Given the description of an element on the screen output the (x, y) to click on. 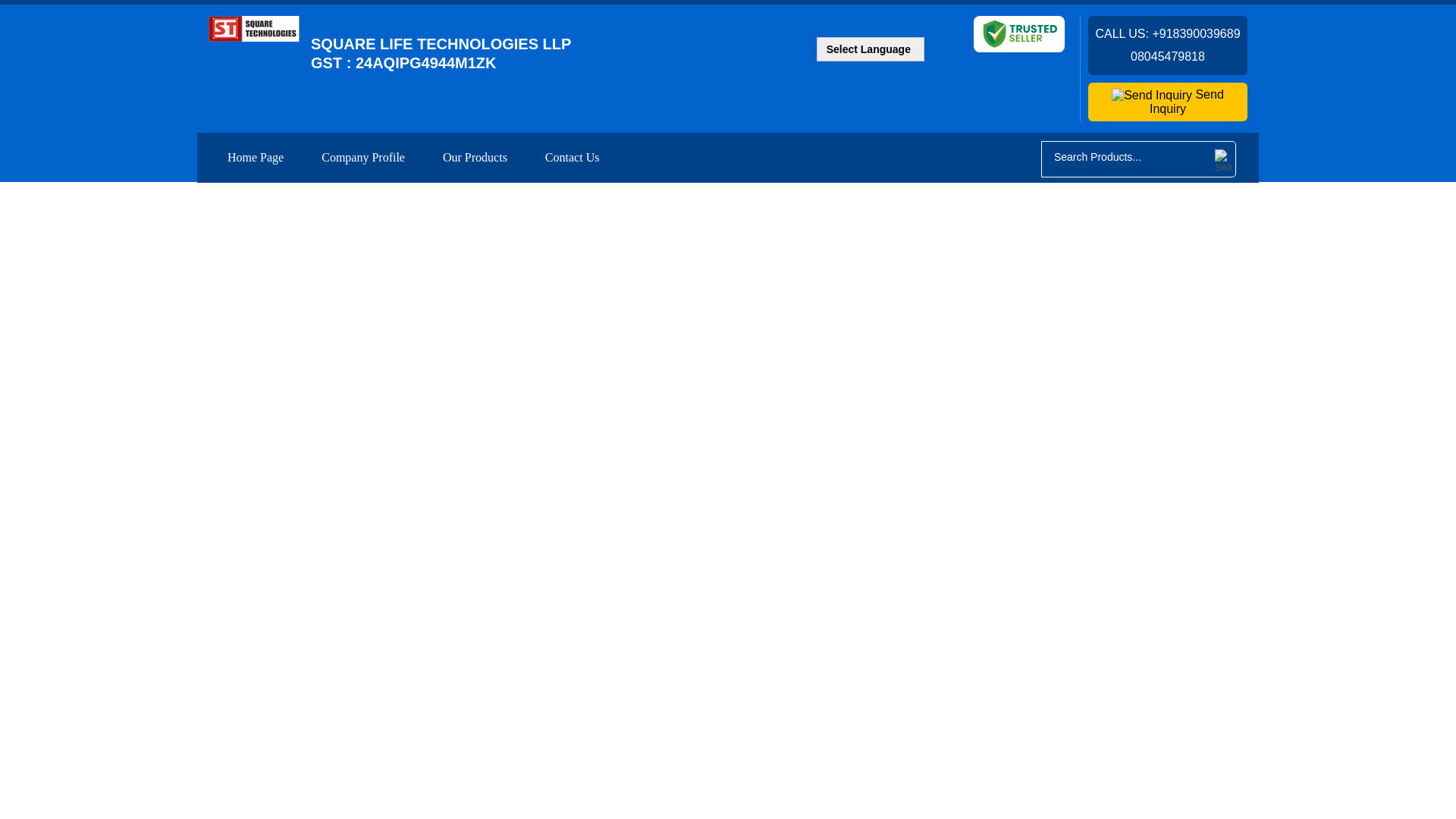
Company Profile (362, 157)
Our Products (474, 157)
Home Page (255, 157)
Search Products... (1126, 156)
Send Inquiry (1168, 101)
Search (1221, 160)
Select Language (869, 48)
submit (1221, 160)
Search Products... (1126, 156)
